Given the description of an element on the screen output the (x, y) to click on. 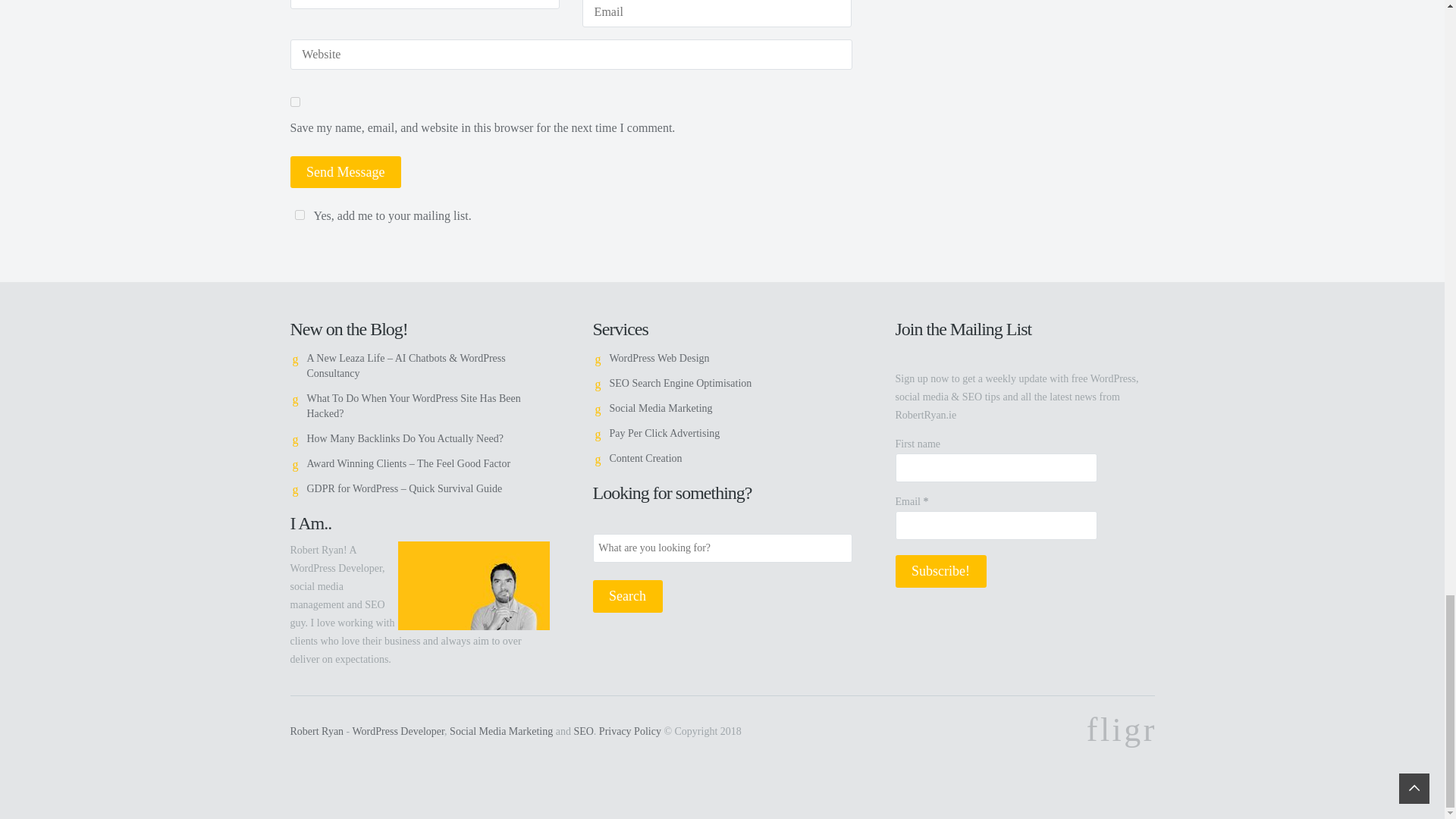
Subscribe! (940, 571)
Send Message (345, 172)
yes (294, 102)
Search (627, 595)
Send Message (345, 172)
WordPress Web Design (660, 357)
1 (298, 214)
SEO Search Engine Optimisation (681, 383)
